Given the description of an element on the screen output the (x, y) to click on. 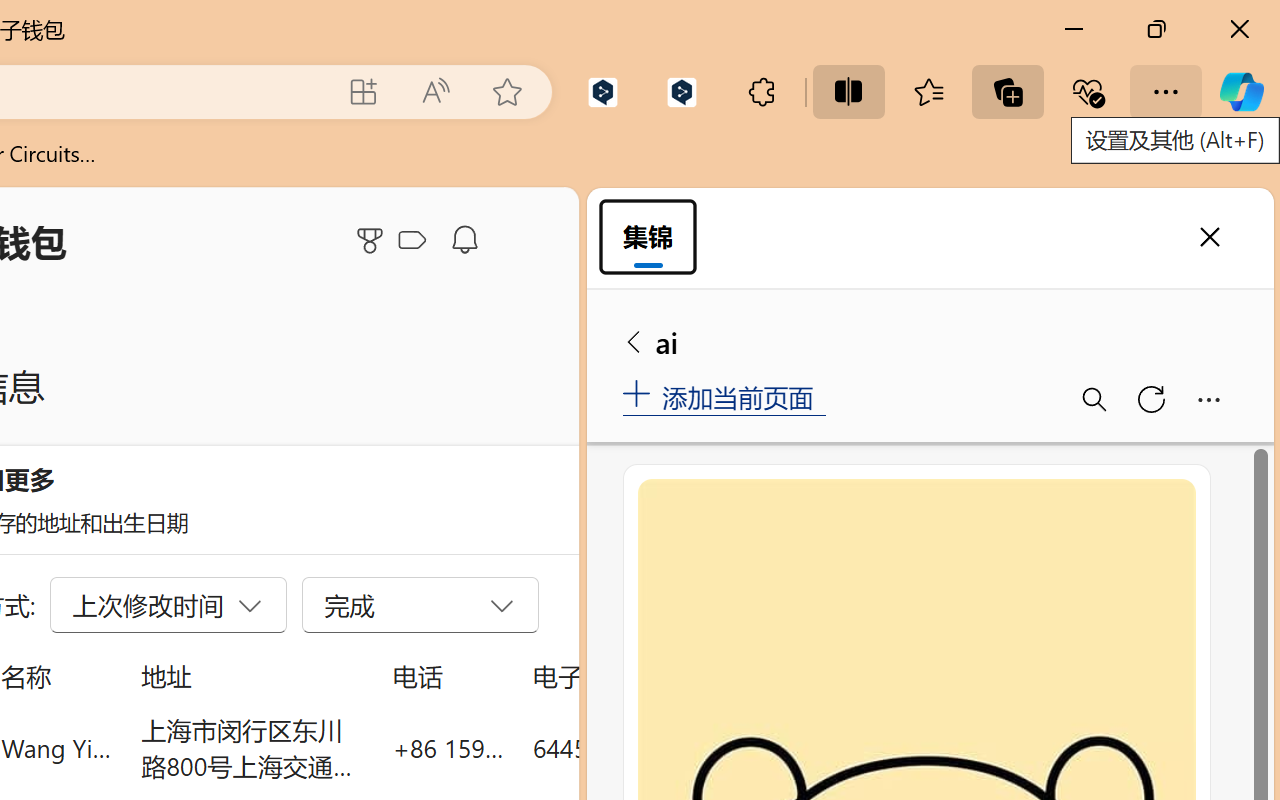
+86 159 0032 4640 (447, 747)
644553698@qq.com (644, 747)
Microsoft Rewards (373, 240)
Class: ___1lmltc5 f1agt3bx f12qytpq (411, 241)
